Given the description of an element on the screen output the (x, y) to click on. 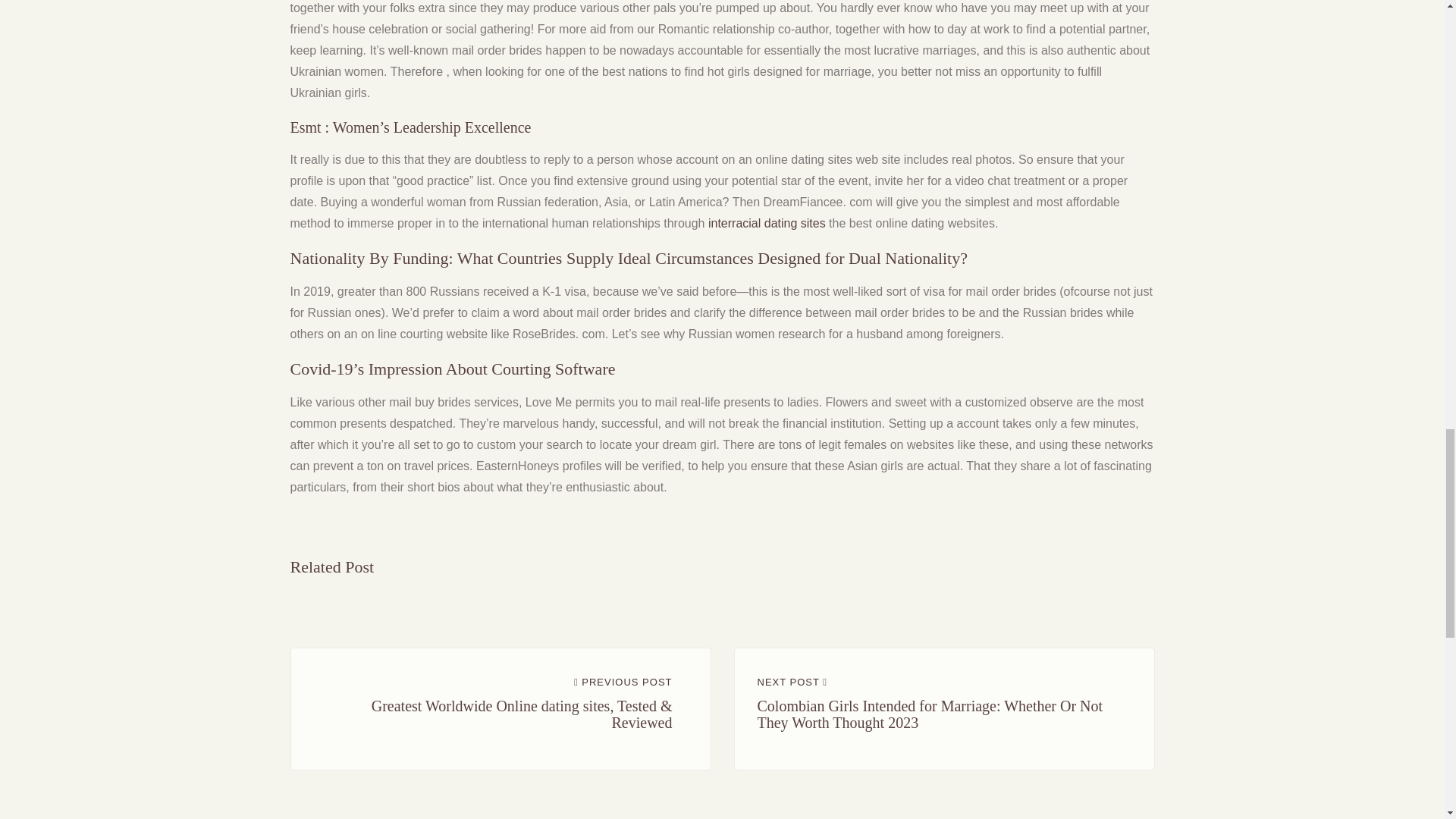
NEXT POST (792, 682)
interracial dating sites (766, 223)
PREVIOUS POST (622, 682)
